Given the description of an element on the screen output the (x, y) to click on. 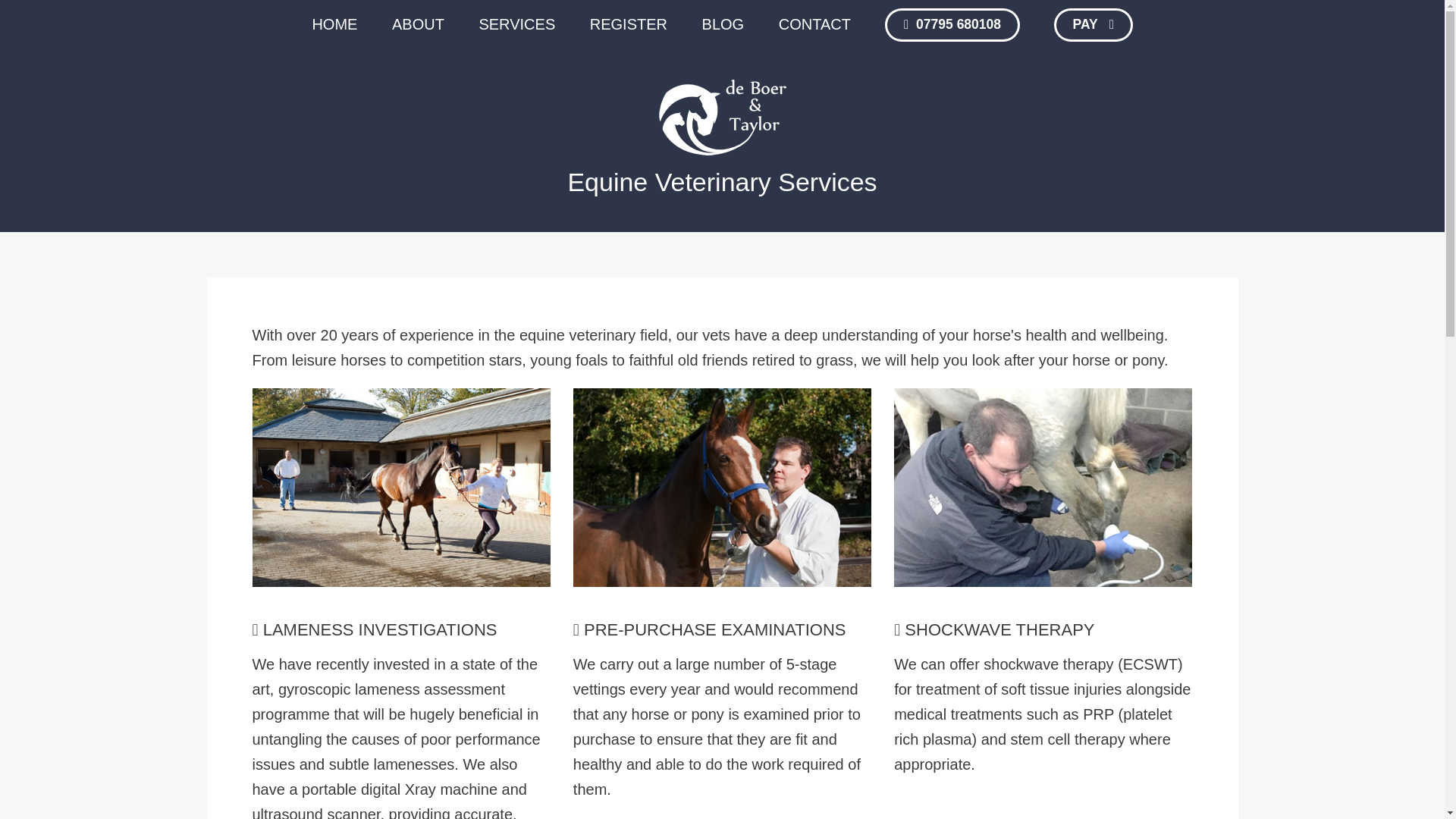
PAY (1093, 24)
REGISTER (627, 24)
CONTACT (814, 24)
SERVICES (516, 24)
  07795 680108 (952, 24)
HOME (333, 24)
Equine Veterinary Services (721, 181)
ABOUT (417, 24)
